Given the description of an element on the screen output the (x, y) to click on. 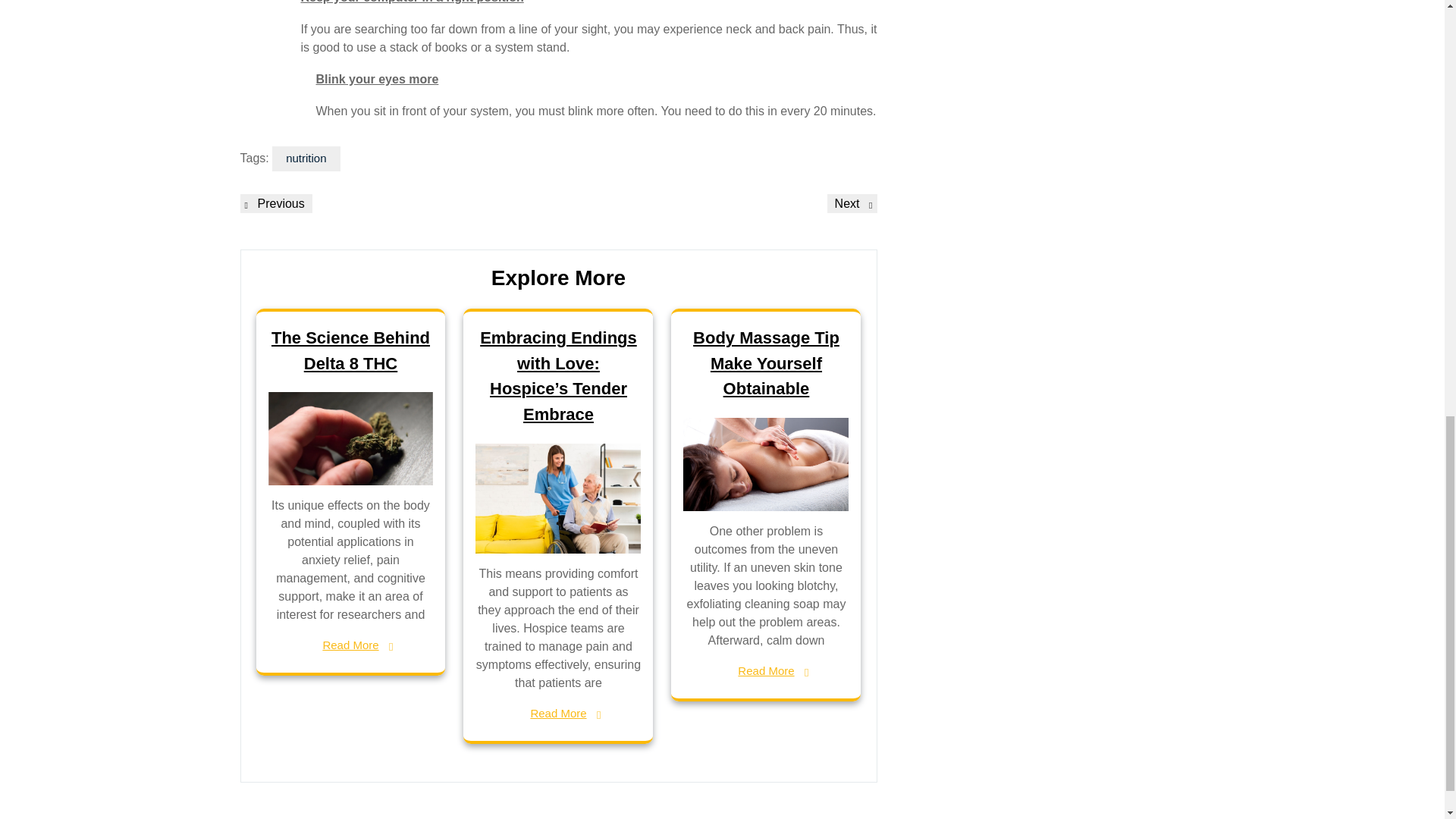
Read More (349, 645)
Body Massage Tip Make Yourself Obtainable (275, 203)
nutrition (852, 203)
Read More (766, 363)
The Science Behind Delta 8 THC (305, 158)
Read More (765, 671)
